Given the description of an element on the screen output the (x, y) to click on. 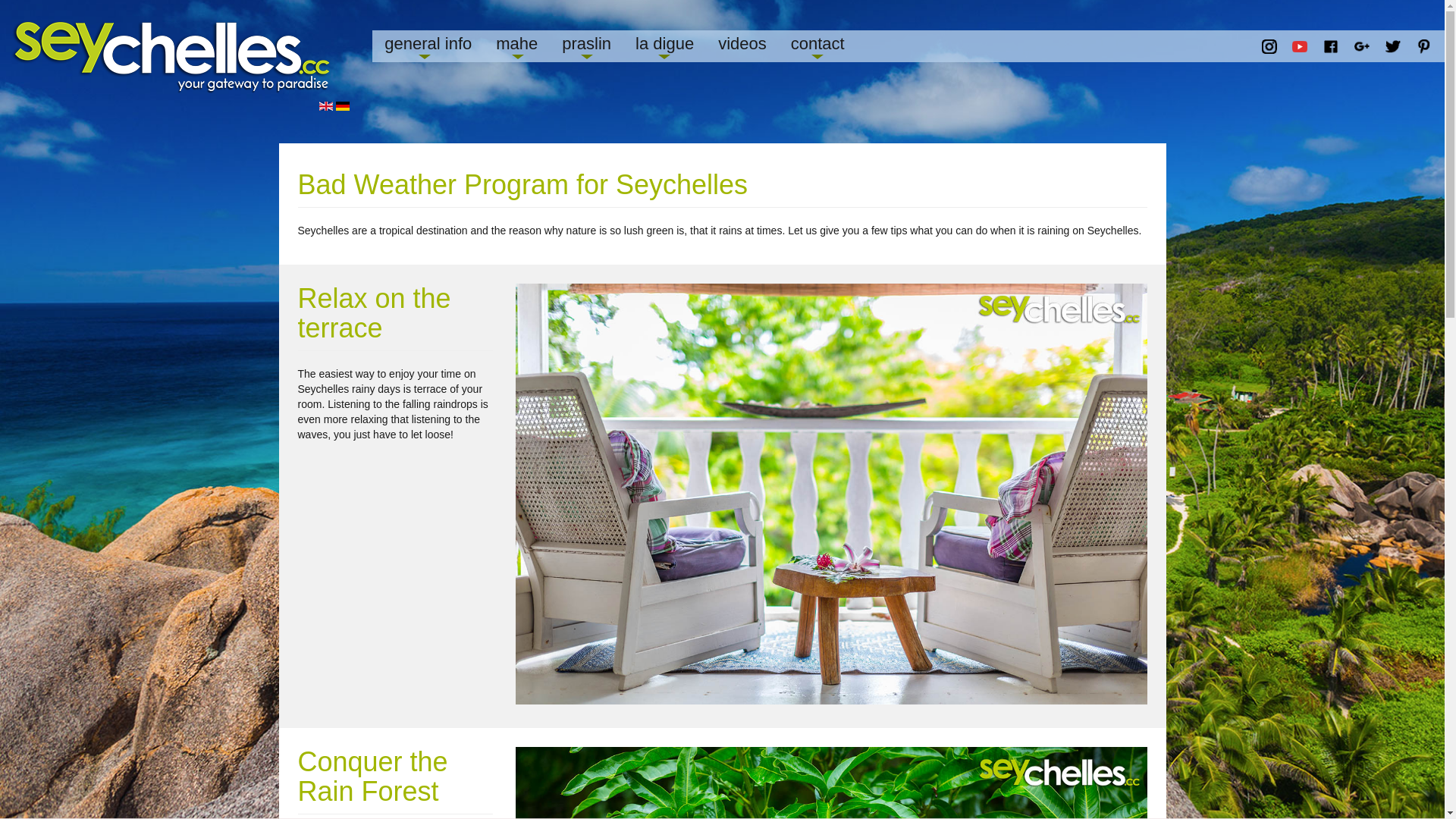
general info Element type: text (427, 46)
english Element type: hover (325, 105)
contact Element type: text (817, 46)
mahe Element type: text (516, 46)
praslin Element type: text (586, 46)
deutsch Element type: hover (342, 105)
la digue Element type: text (664, 46)
videos Element type: text (742, 46)
